Given the description of an element on the screen output the (x, y) to click on. 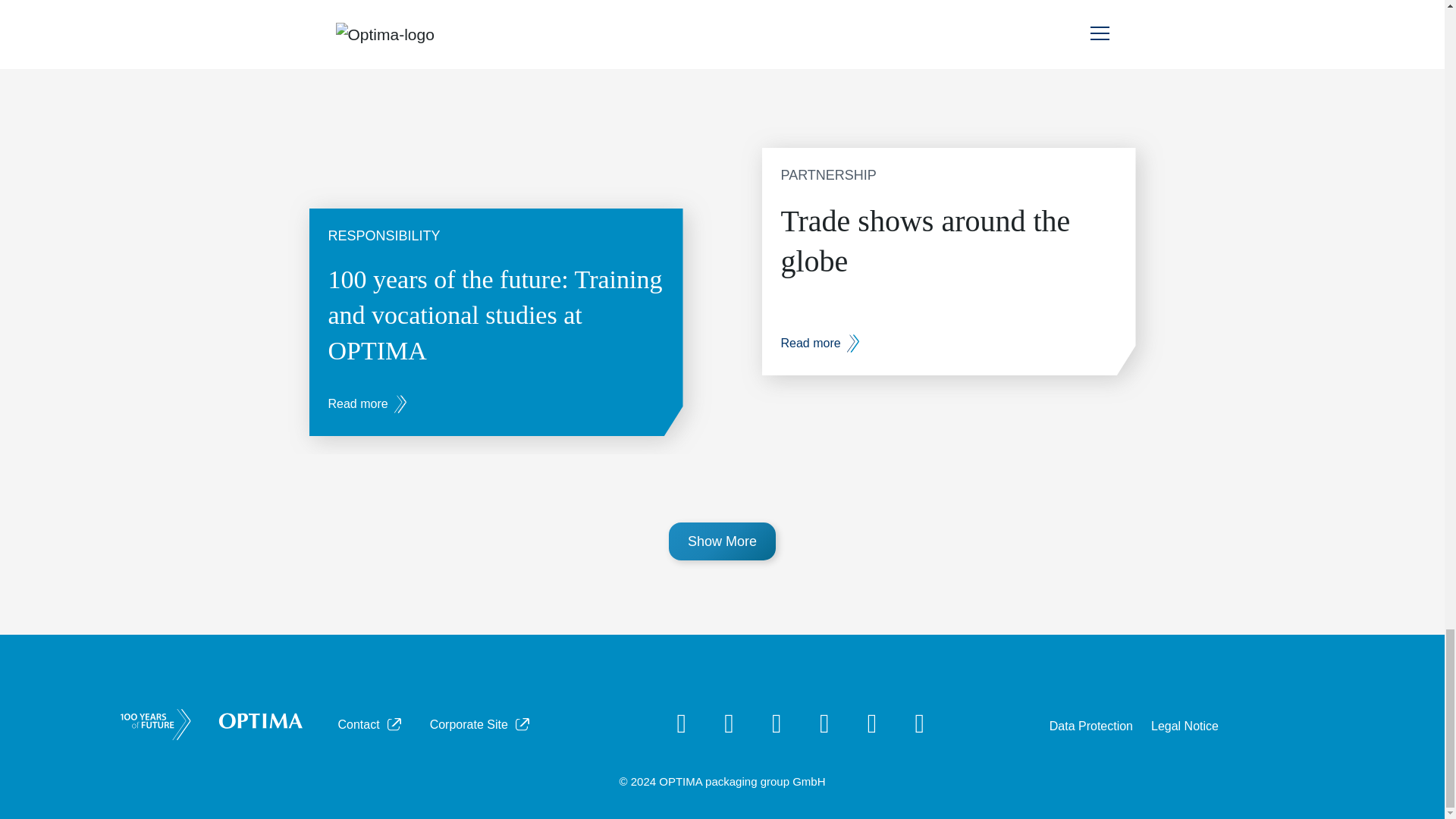
Read more (366, 403)
Contact (370, 724)
Show More (722, 541)
Contact (370, 724)
Corporate Site (480, 724)
Legal Notice (1184, 725)
Data Protection (1090, 725)
Corporate Site (480, 724)
Read more (820, 343)
